Given the description of an element on the screen output the (x, y) to click on. 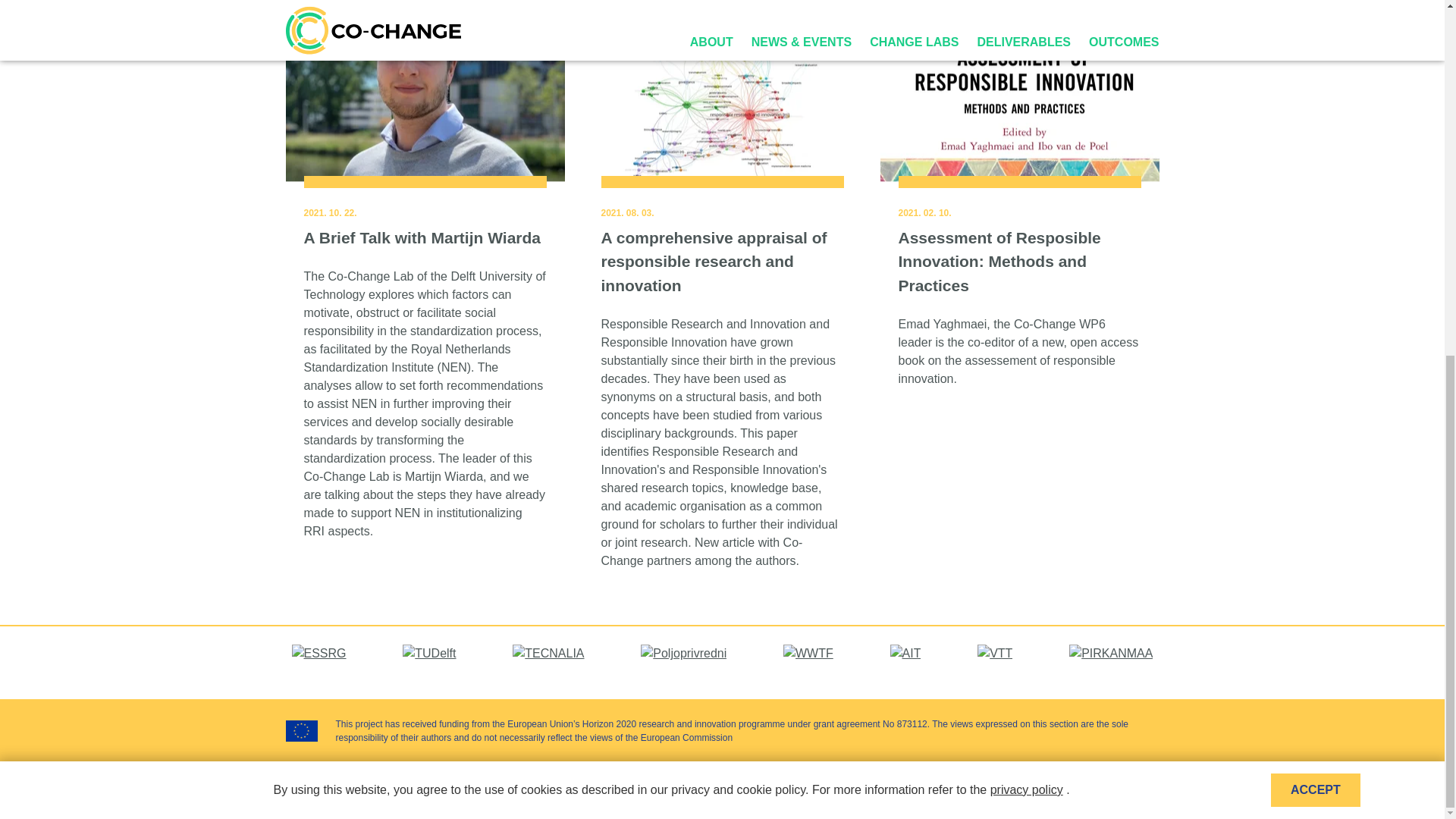
Mail (1112, 791)
Privacy Policy (1053, 789)
Twitter (1149, 791)
Impressum (985, 789)
privacy policy (1026, 164)
ACCEPT (1315, 164)
